Given the description of an element on the screen output the (x, y) to click on. 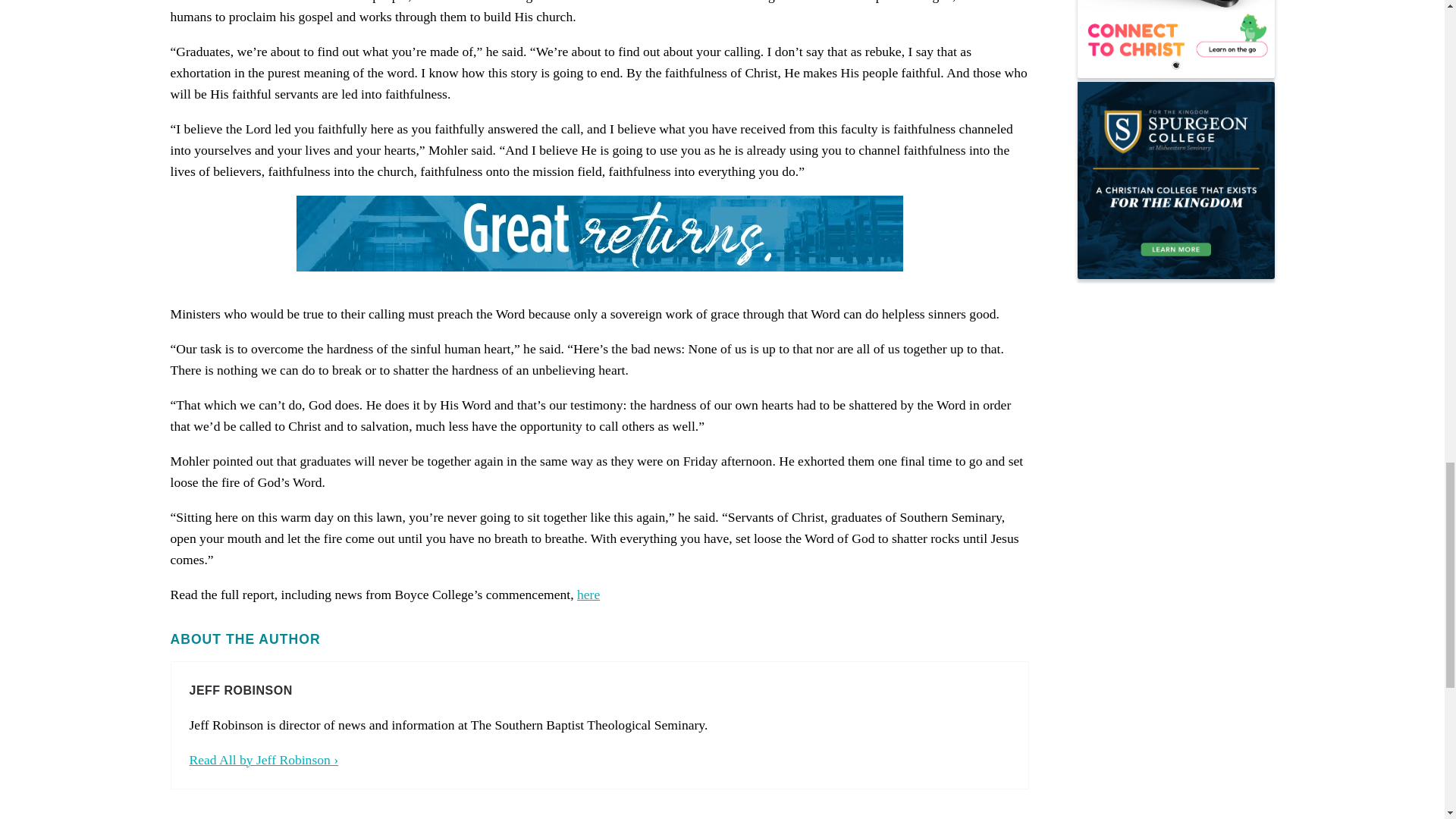
here (587, 594)
